Given the description of an element on the screen output the (x, y) to click on. 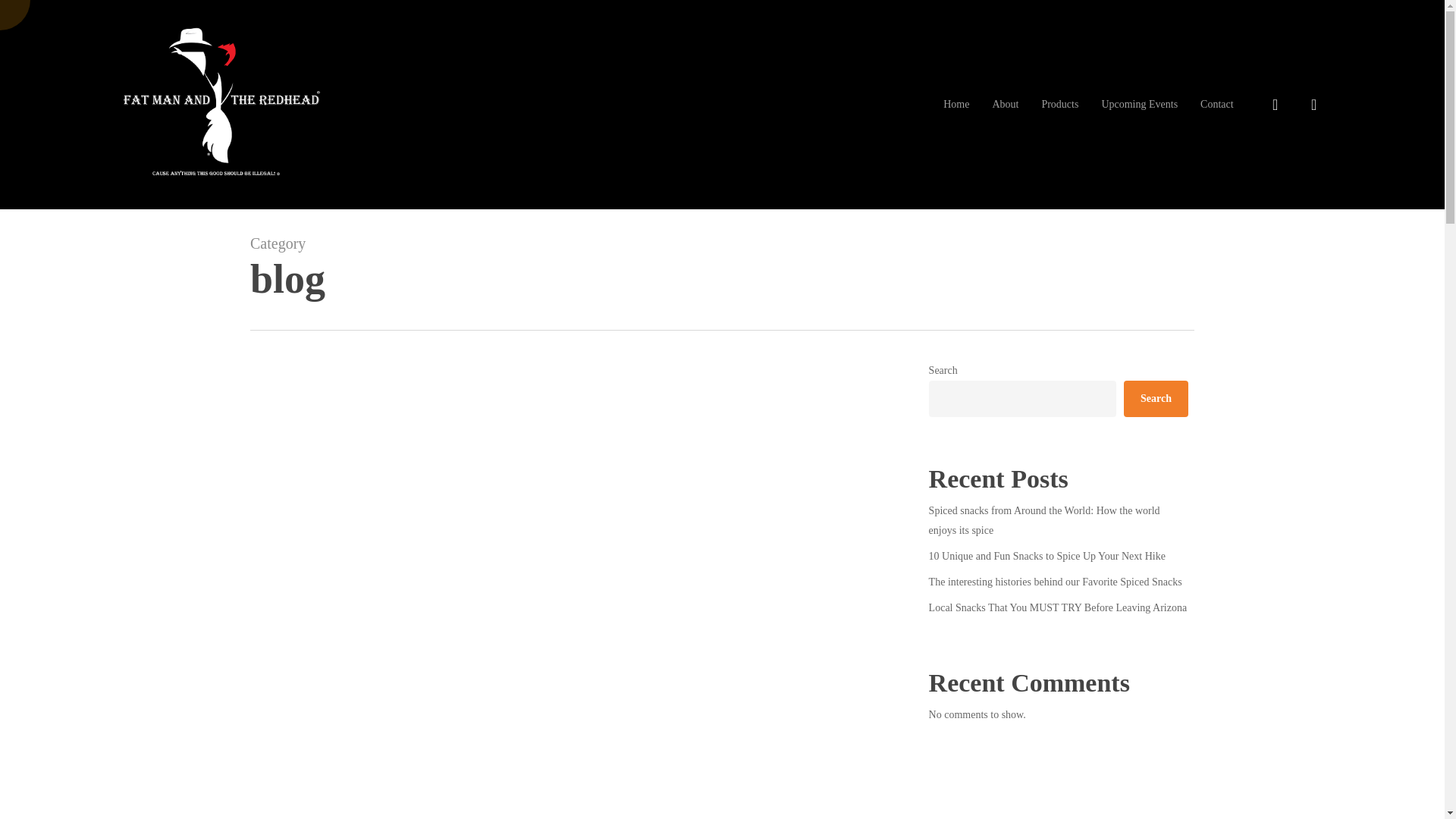
About (1004, 104)
Home (955, 104)
Search (1156, 398)
Upcoming Events (1139, 104)
Local Snacks That You MUST TRY Before Leaving Arizona (1058, 608)
Products (1059, 104)
search (1275, 105)
The interesting histories behind our Favorite Spiced Snacks (1058, 582)
10 Unique and Fun Snacks to Spice Up Your Next Hike (1058, 556)
Contact (1216, 104)
